Given the description of an element on the screen output the (x, y) to click on. 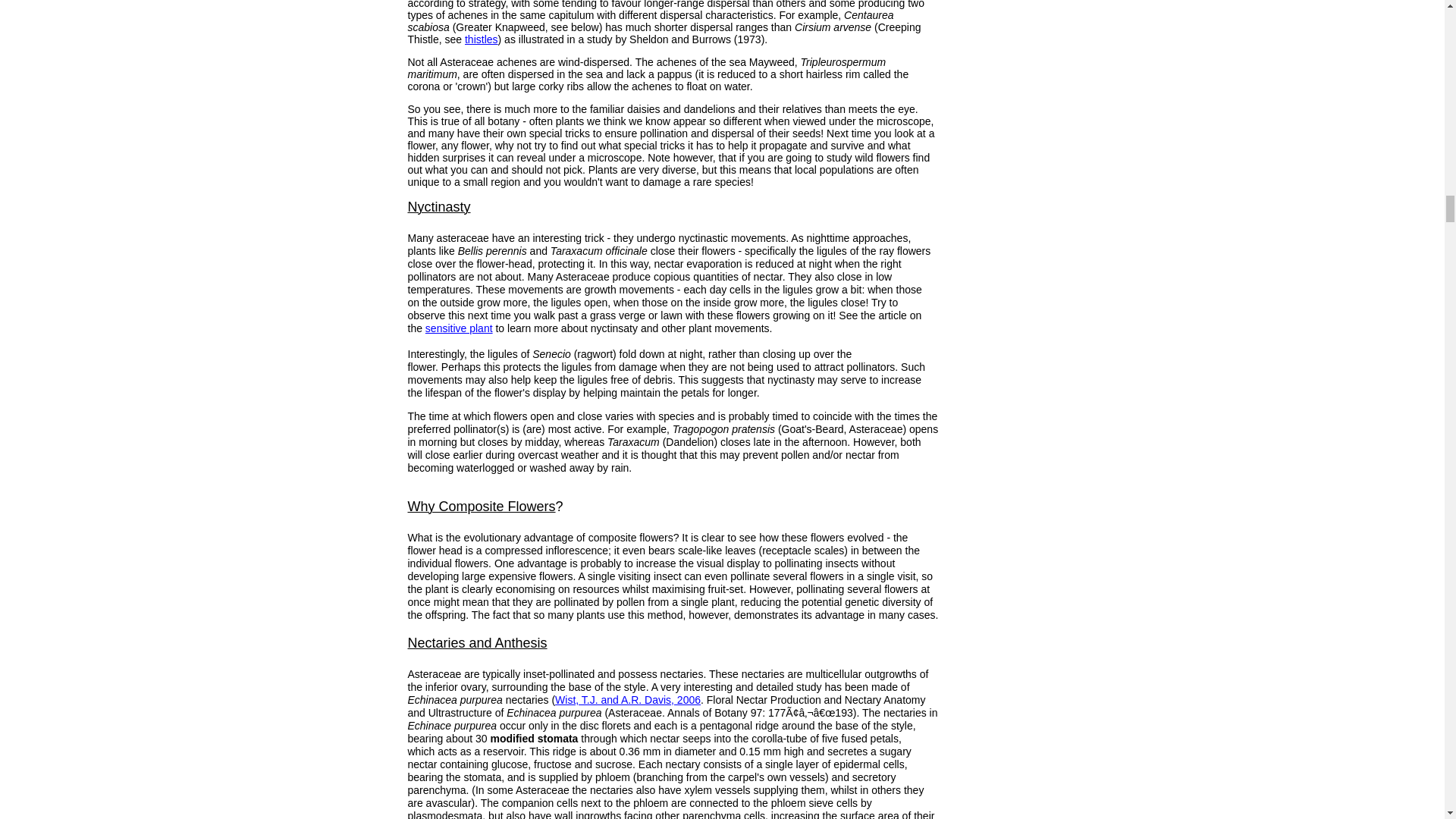
Wist, T.J. and A.R. Davis, 2006 (627, 699)
thistles (480, 39)
sensitive plant (459, 328)
